Given the description of an element on the screen output the (x, y) to click on. 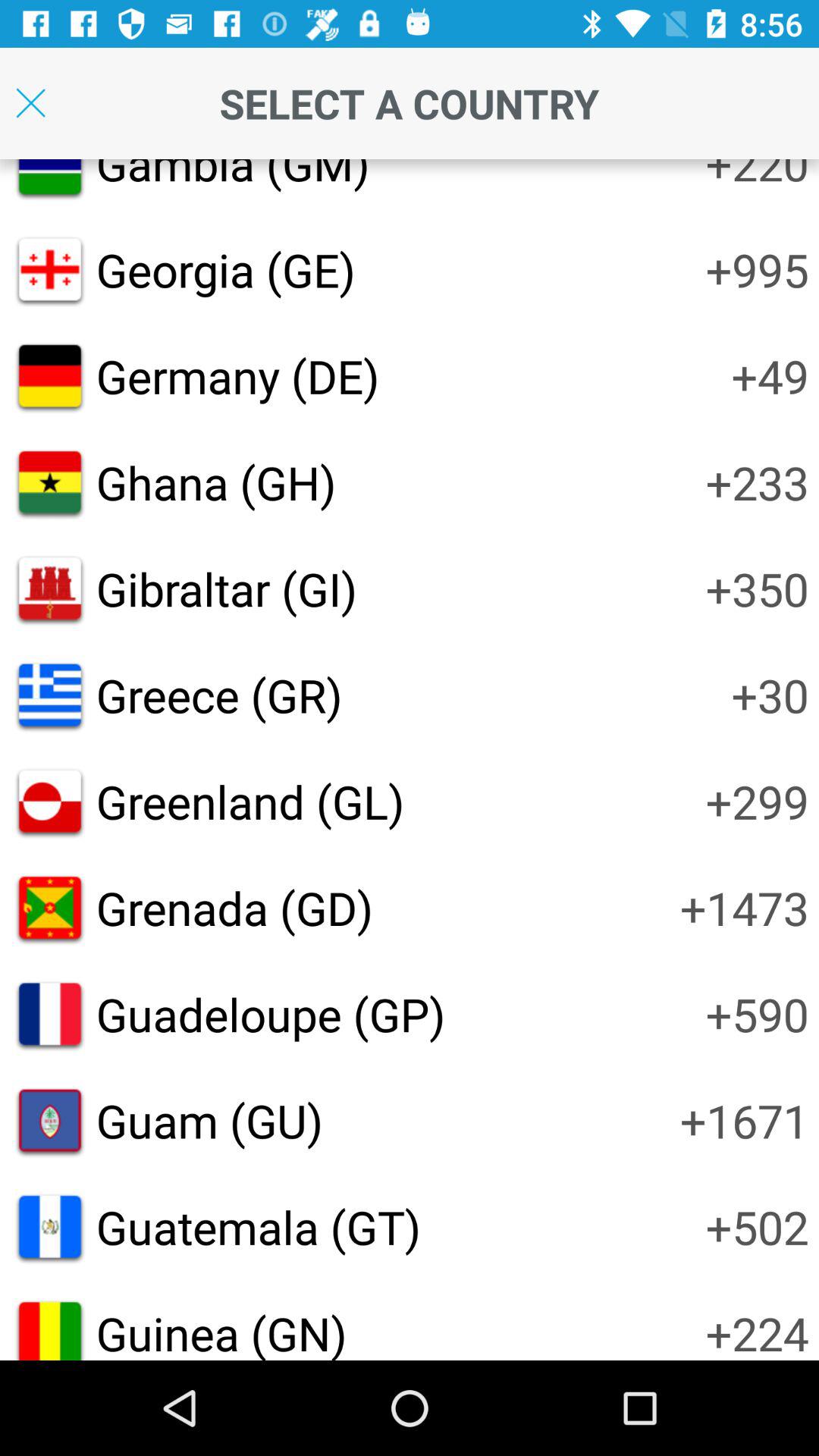
launch icon to the left of +299 (250, 801)
